Given the description of an element on the screen output the (x, y) to click on. 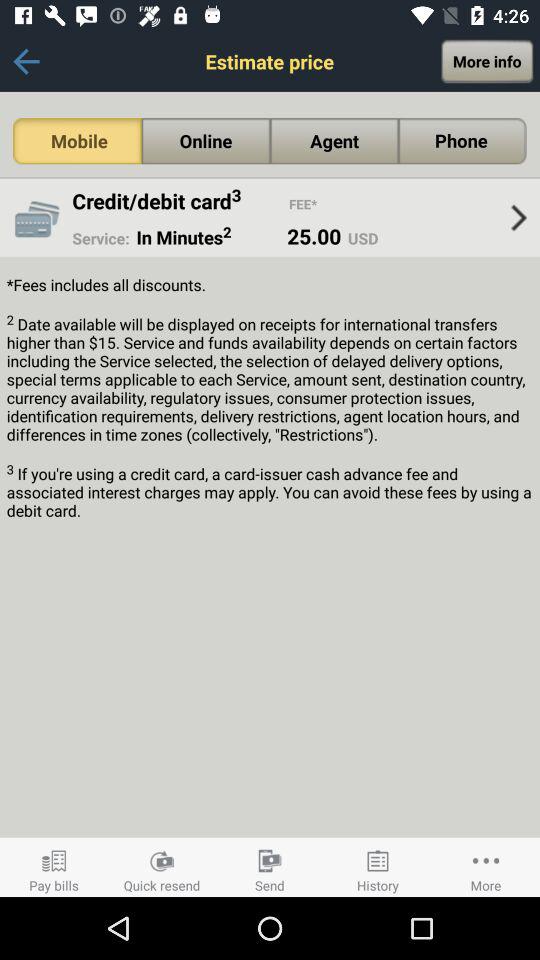
turn off the app next to the in minutes2 icon (100, 238)
